Given the description of an element on the screen output the (x, y) to click on. 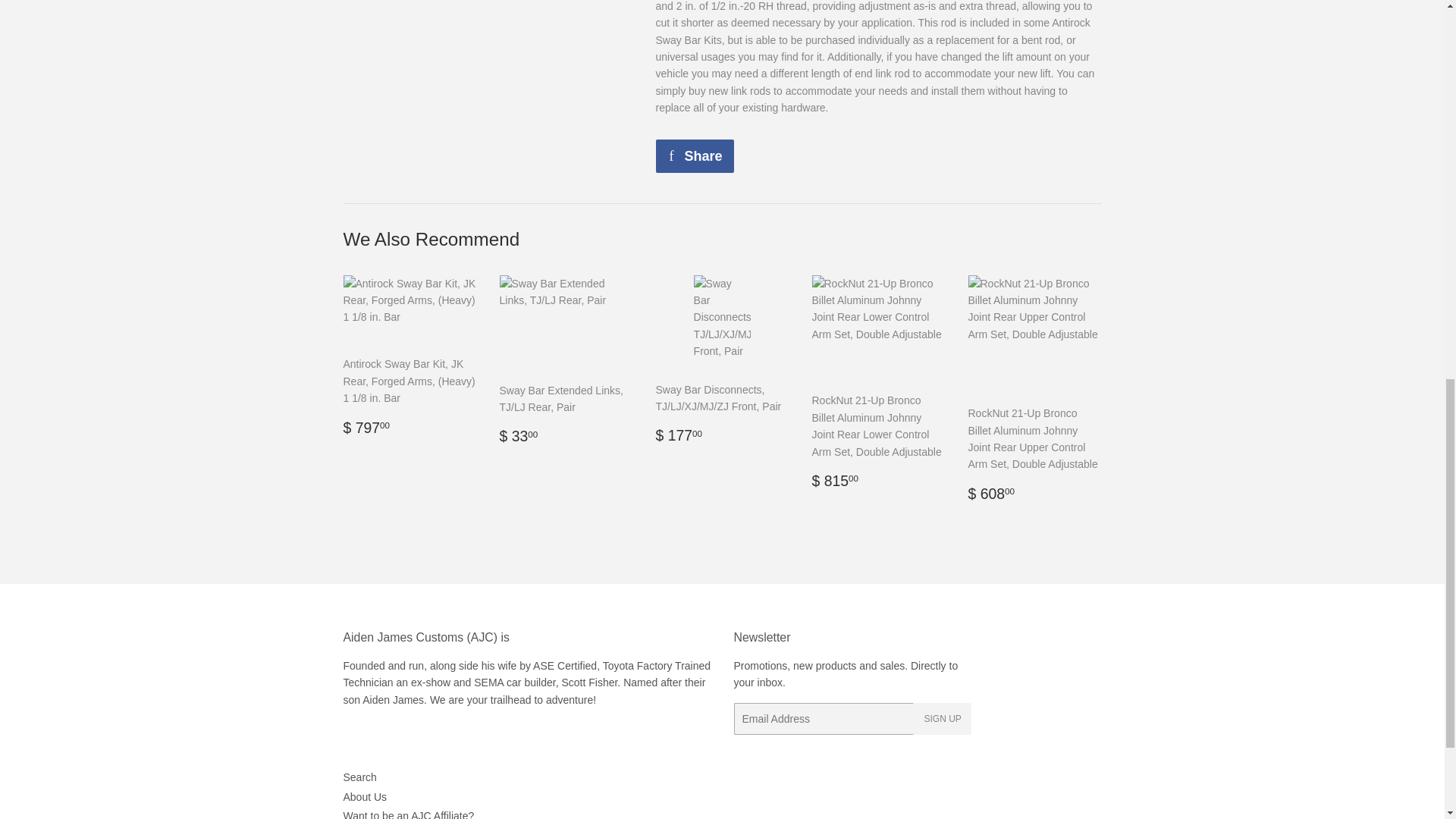
Search (358, 776)
Share on Facebook (694, 155)
About Us (694, 155)
SIGN UP (364, 797)
